Given the description of an element on the screen output the (x, y) to click on. 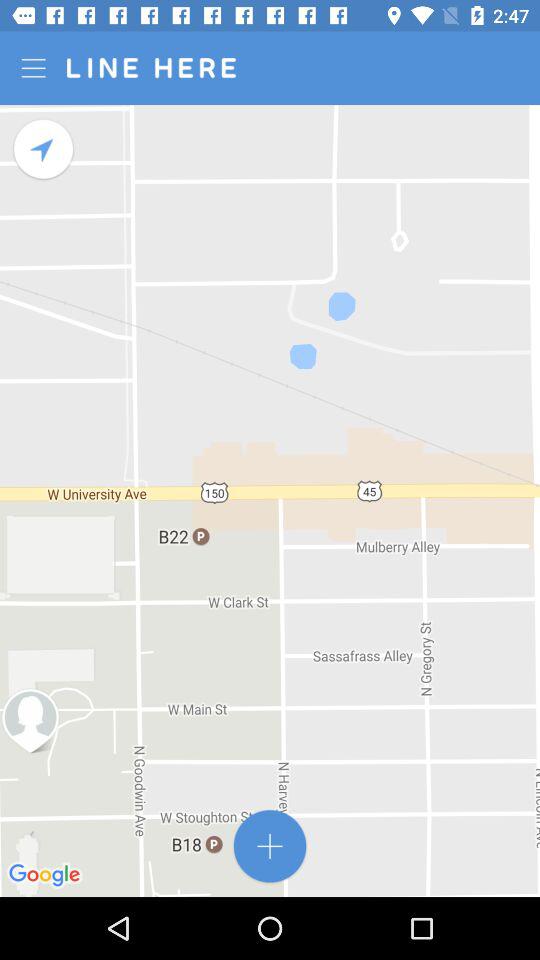
get directions (44, 149)
